Given the description of an element on the screen output the (x, y) to click on. 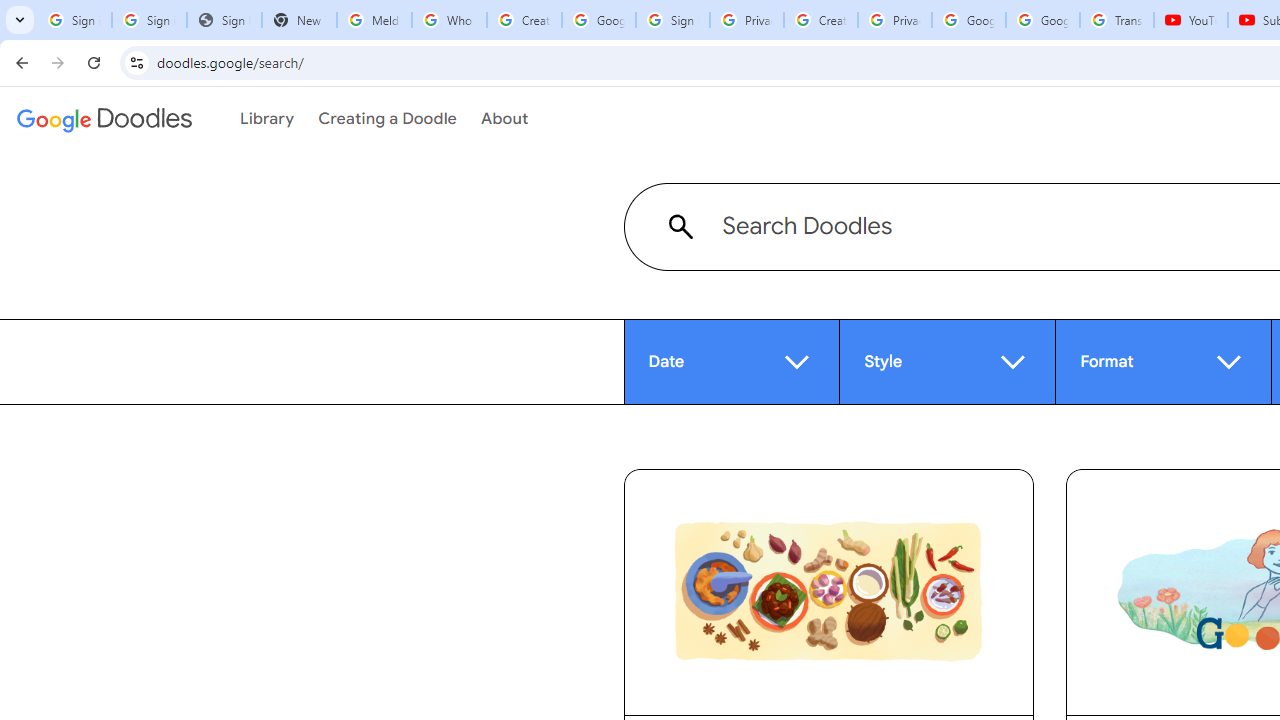
Who is my administrator? - Google Account Help (449, 20)
